Given the description of an element on the screen output the (x, y) to click on. 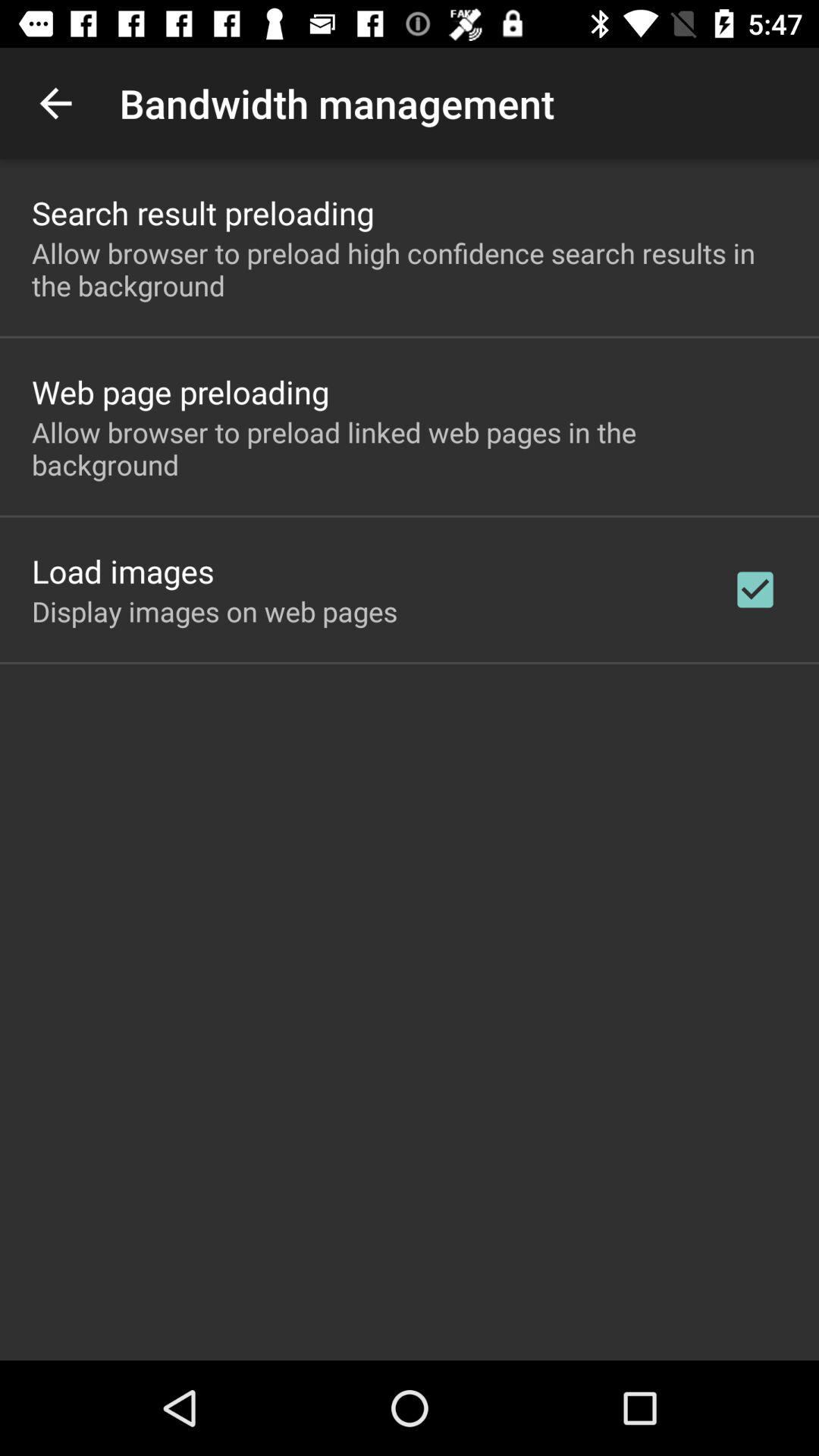
tap the search result preloading app (202, 212)
